Given the description of an element on the screen output the (x, y) to click on. 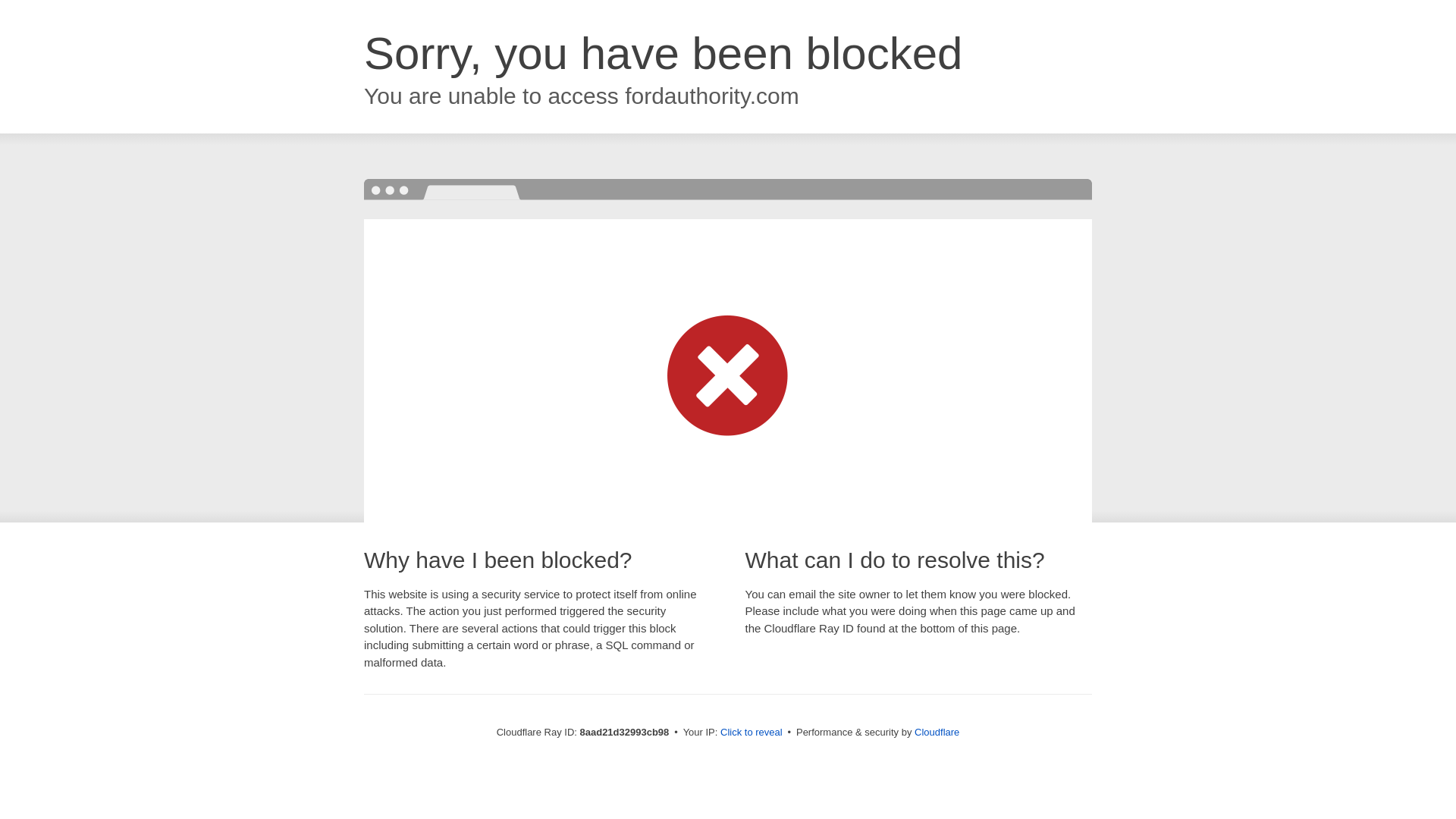
Cloudflare (936, 731)
Click to reveal (751, 732)
